Given the description of an element on the screen output the (x, y) to click on. 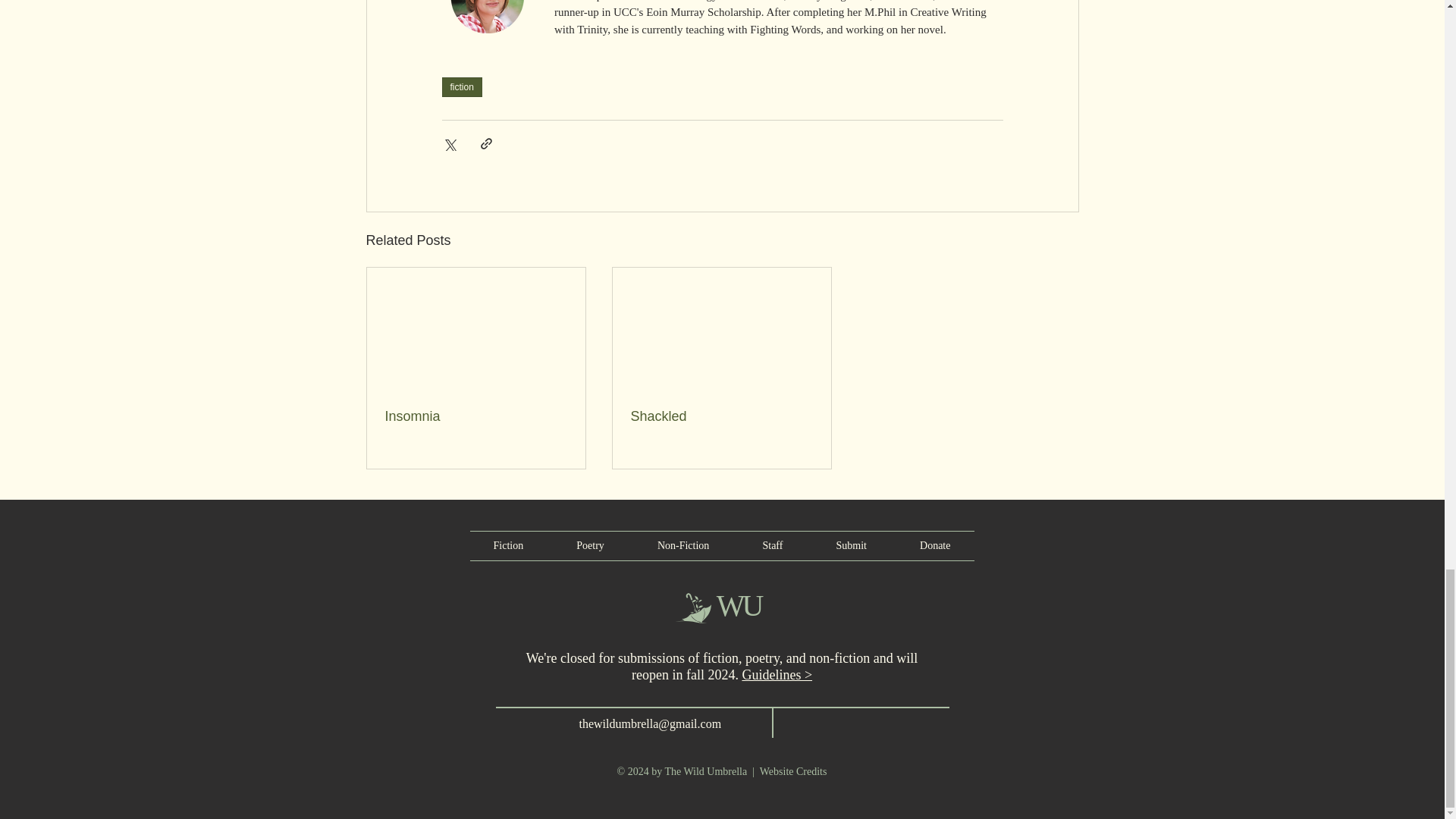
Insomnia (476, 416)
Shackled (721, 416)
Poetry (590, 545)
WU (738, 605)
Non-Fiction (683, 545)
Fiction (508, 545)
Submit (850, 545)
Website Credits (793, 771)
Donate (935, 545)
fiction (461, 86)
